Given the description of an element on the screen output the (x, y) to click on. 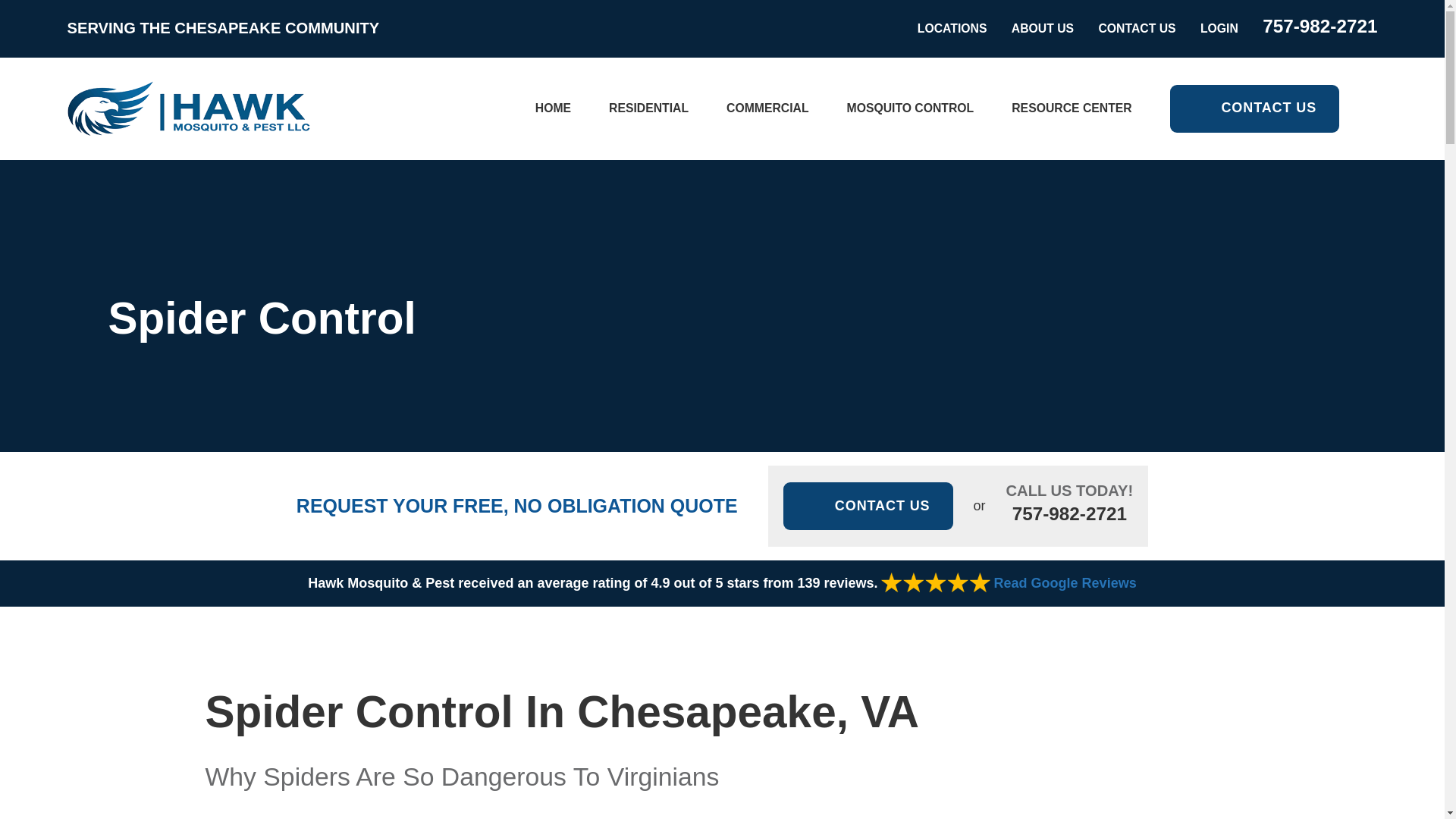
ABOUT US (1042, 28)
LOGIN (1219, 28)
LOCATIONS (952, 28)
COMMERCIAL (767, 108)
MOSQUITO CONTROL (910, 108)
757-982-2721 (1319, 25)
Home (187, 108)
RESOURCE CENTER (1071, 108)
CONTACT US (1135, 28)
RESIDENTIAL (648, 108)
